Given the description of an element on the screen output the (x, y) to click on. 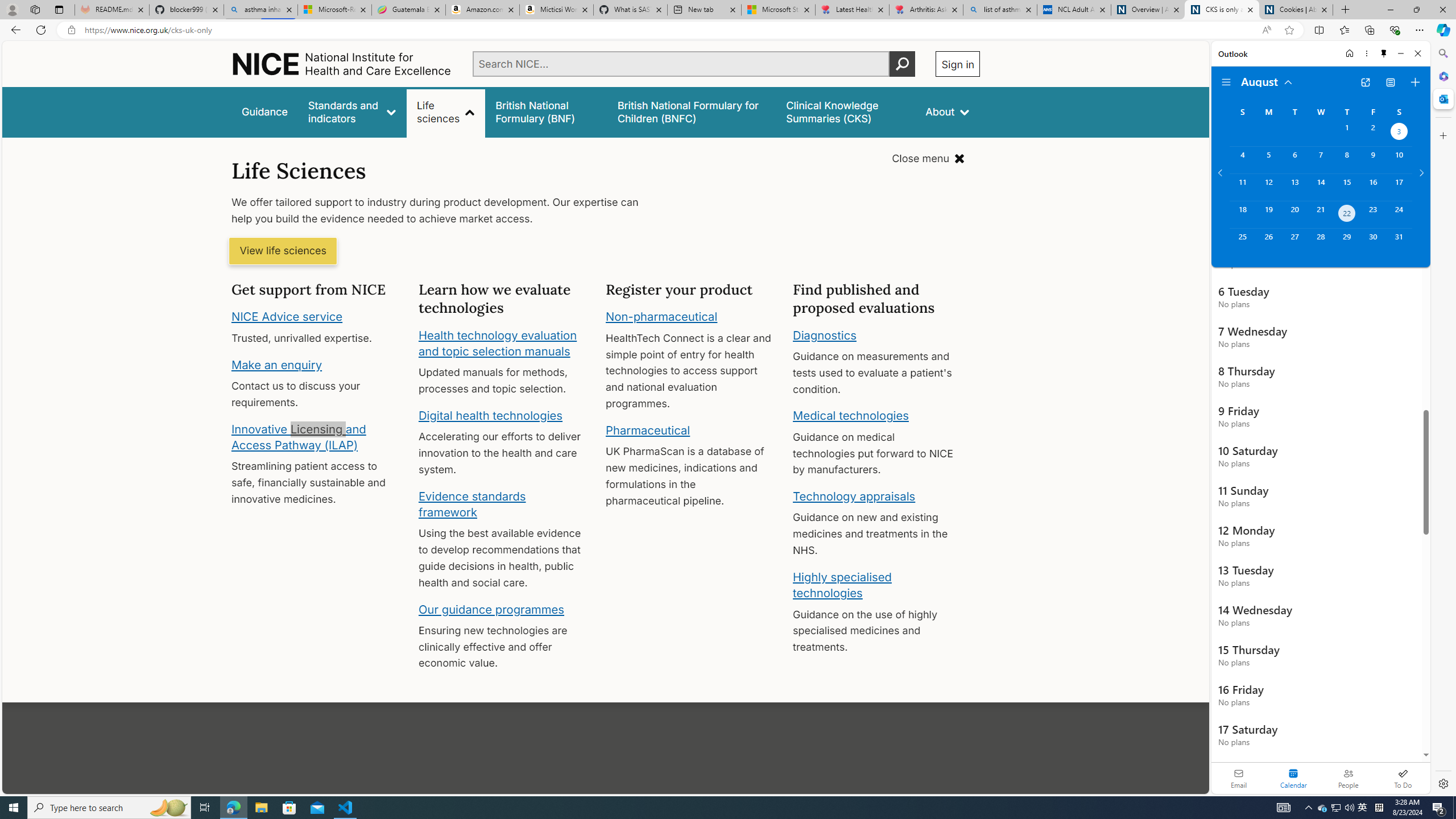
Highly specialised technologies (842, 584)
August (1267, 80)
Medical technologies (850, 415)
Pharmaceutical (647, 429)
Create event (1414, 82)
Friday, August 16, 2024.  (1372, 186)
Sunday, August 25, 2024.  (1242, 241)
Tuesday, August 20, 2024.  (1294, 214)
